Given the description of an element on the screen output the (x, y) to click on. 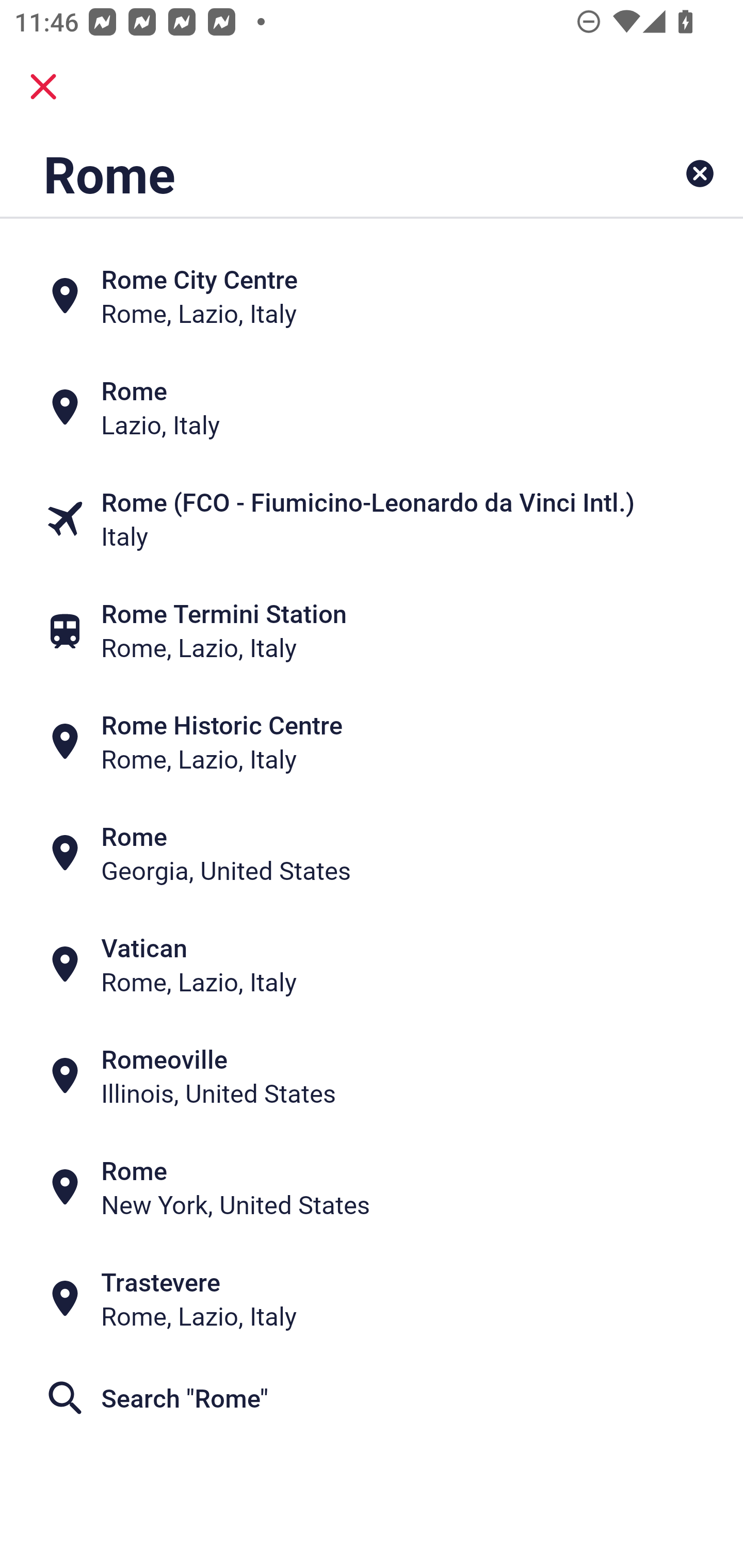
close. (43, 86)
Clear (699, 173)
Rome (306, 173)
Rome City Centre Rome, Lazio, Italy (371, 295)
Rome Lazio, Italy (371, 406)
Rome Termini Station Rome, Lazio, Italy (371, 629)
Rome Historic Centre Rome, Lazio, Italy (371, 742)
Rome Georgia, United States (371, 853)
Vatican Rome, Lazio, Italy (371, 964)
Romeoville Illinois, United States (371, 1076)
Rome New York, United States (371, 1187)
Trastevere Rome, Lazio, Italy (371, 1298)
Search "Rome" (371, 1397)
